Given the description of an element on the screen output the (x, y) to click on. 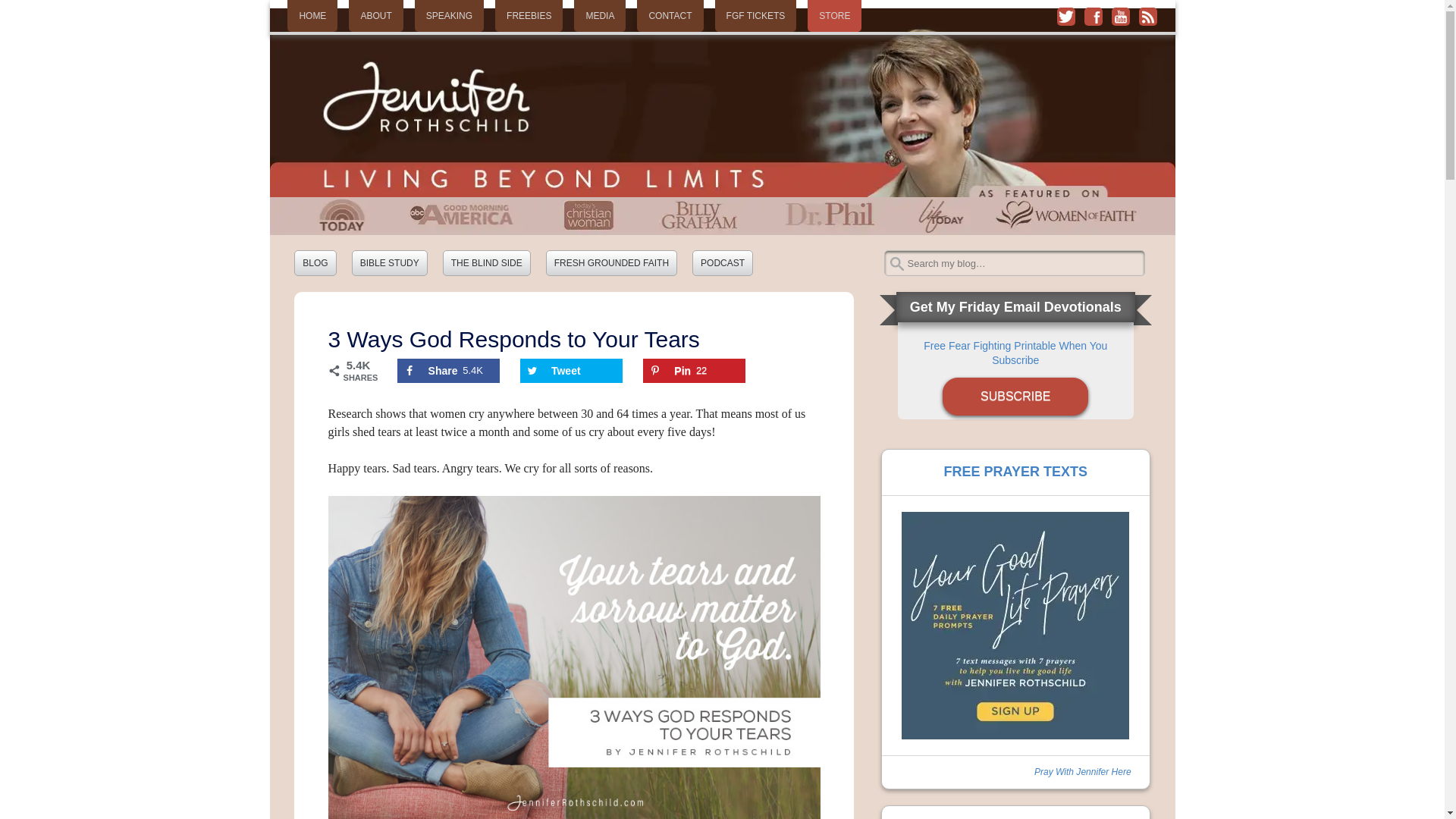
ABOUT (376, 15)
Tweet (571, 370)
Share on Twitter (571, 370)
FGF TICKETS (755, 15)
Search (26, 15)
BLOG (315, 263)
Like me on Facebook (1093, 16)
BIBLE STUDY (390, 263)
FREEBIES (528, 15)
STORE (834, 15)
MEDIA (599, 15)
Share on Facebook (448, 370)
SPEAKING (448, 15)
Skip to content (448, 370)
